Given the description of an element on the screen output the (x, y) to click on. 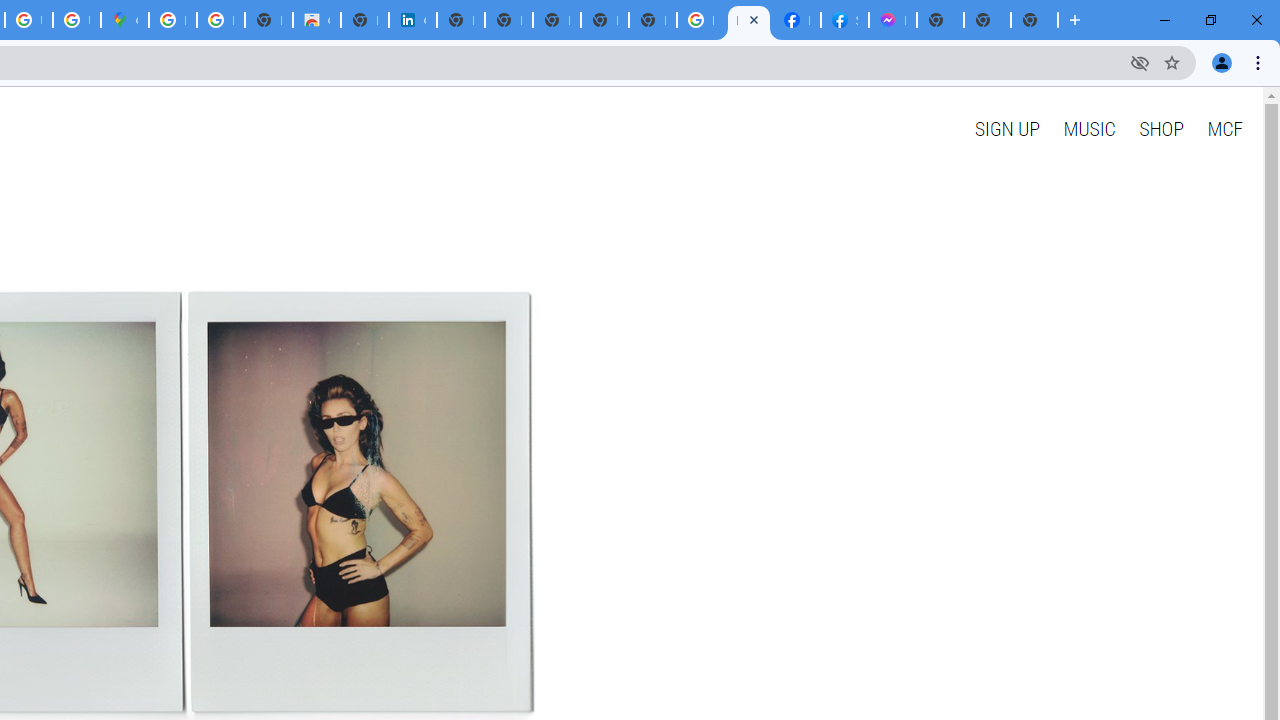
Messenger (892, 20)
SIGN UP (1006, 128)
Sign Up for Facebook (844, 20)
MILEY CYRUS. (748, 20)
Chrome Web Store (316, 20)
SHOP (1161, 128)
